Given the description of an element on the screen output the (x, y) to click on. 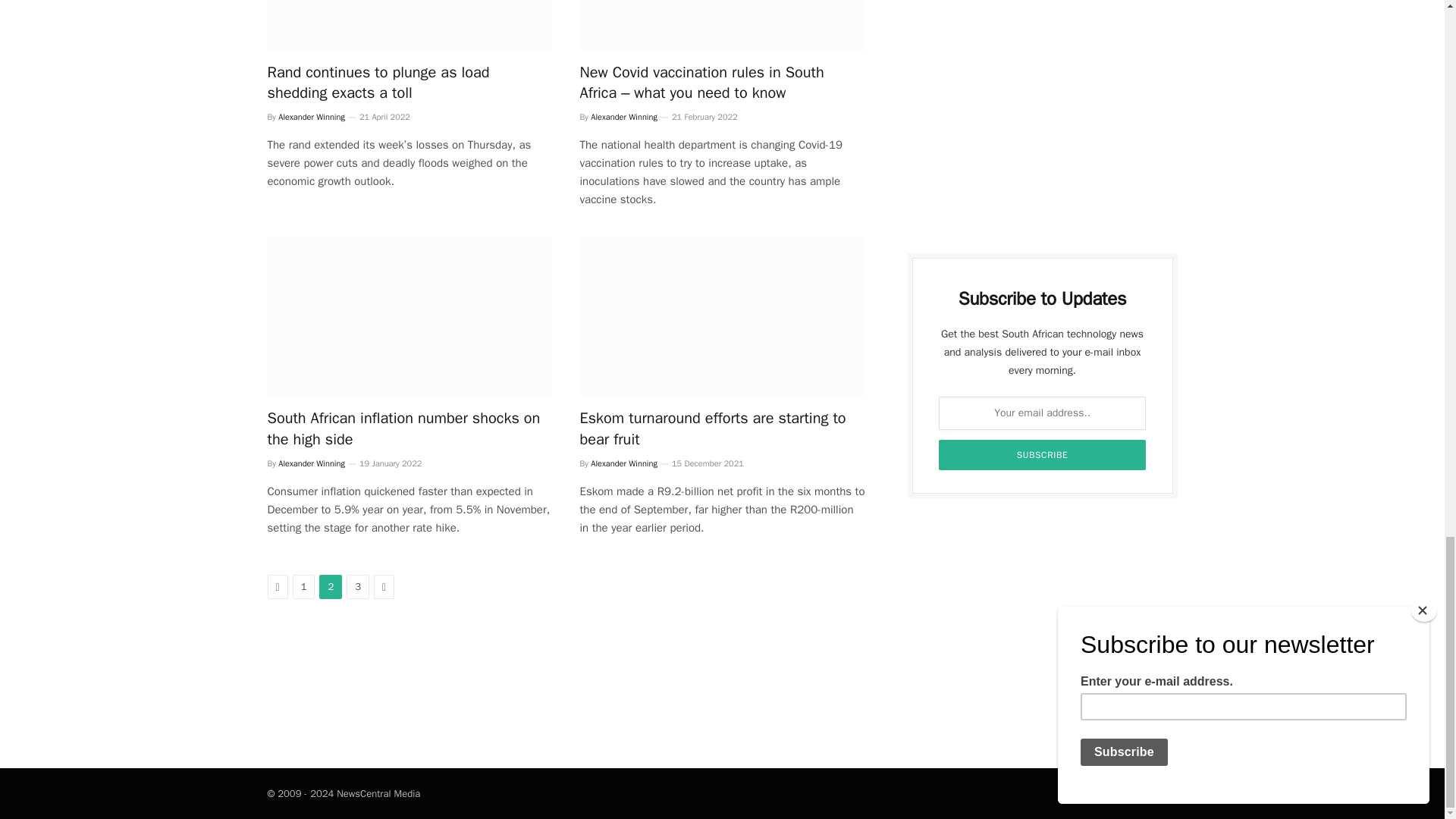
Subscribe (1043, 454)
